Given the description of an element on the screen output the (x, y) to click on. 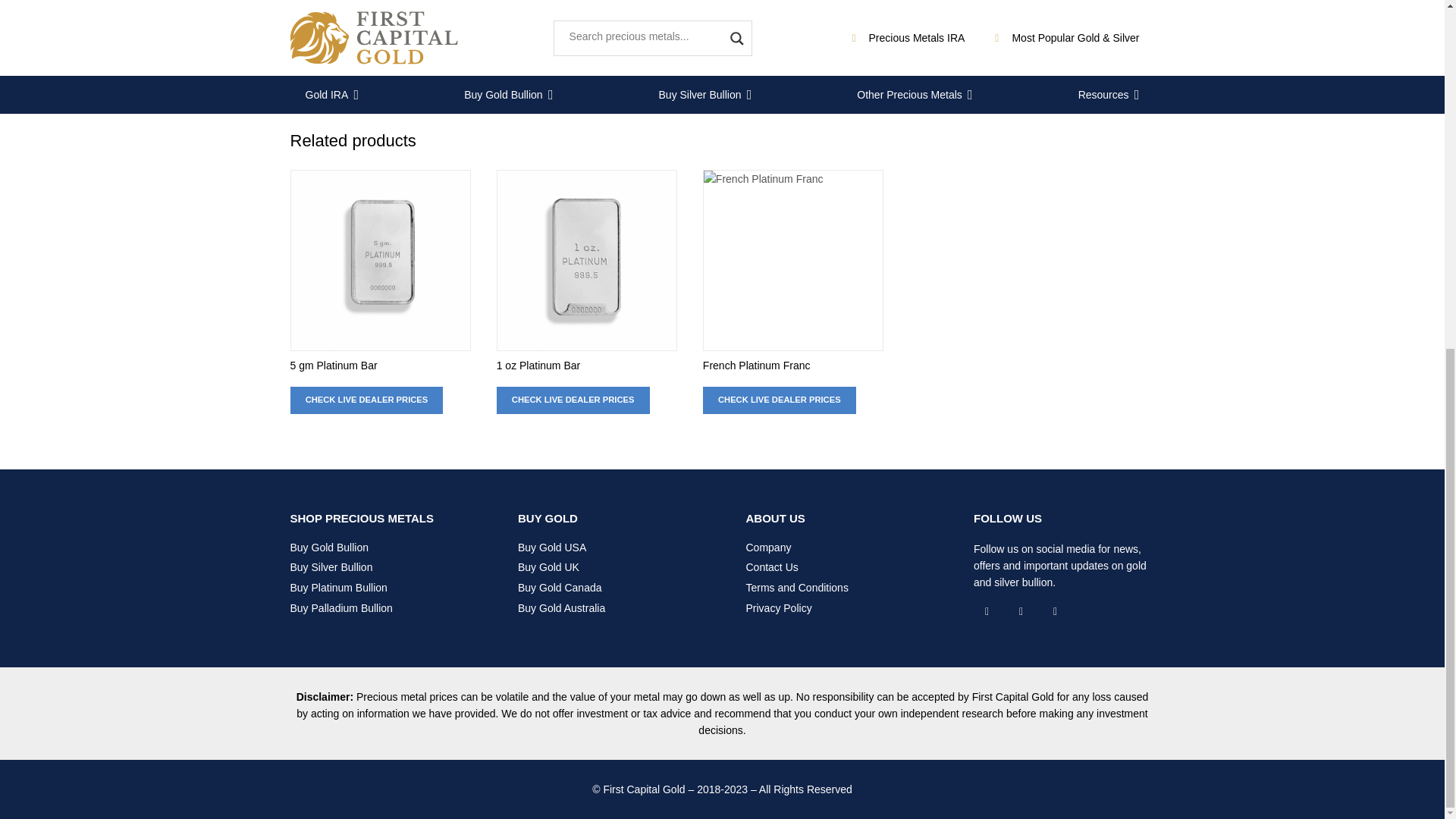
Facebook (987, 611)
Twitter (1020, 611)
LinkedIn (1055, 611)
Back to top (1413, 239)
